Given the description of an element on the screen output the (x, y) to click on. 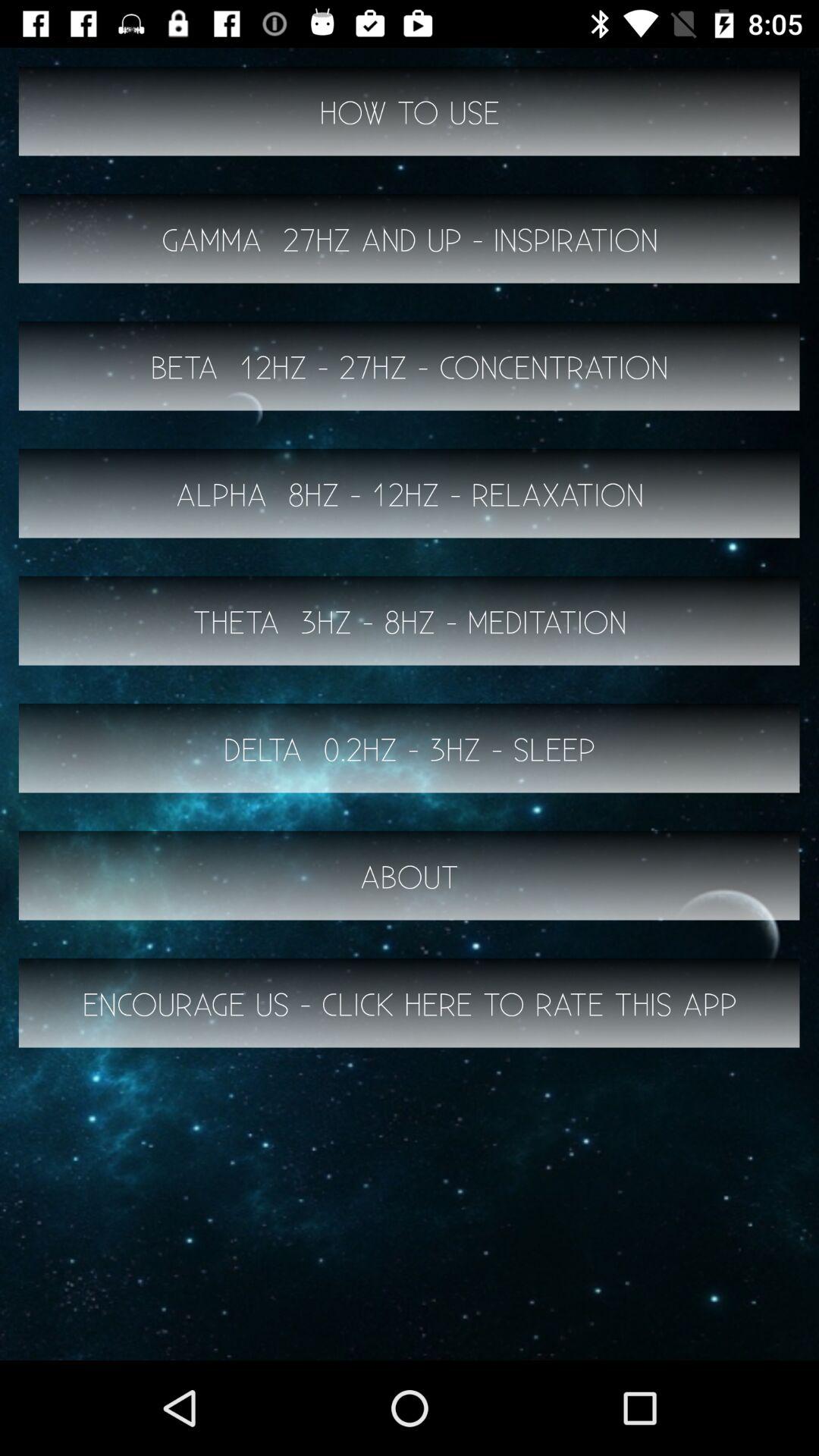
press the encourage us click (409, 1003)
